Given the description of an element on the screen output the (x, y) to click on. 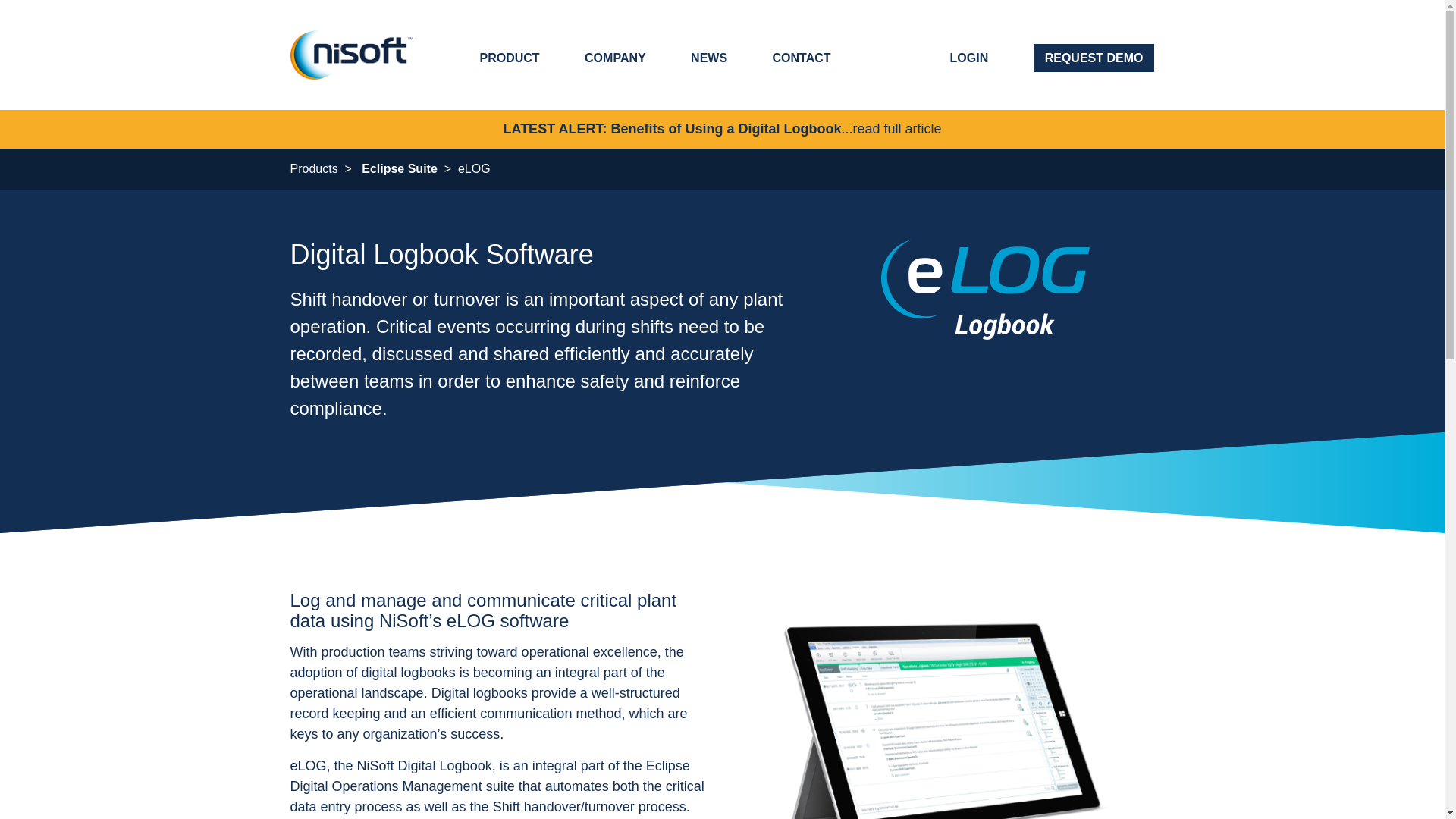
PRODUCT (508, 57)
NEWS (708, 57)
REQUEST DEMO (1093, 58)
Eclipse Suite (399, 168)
Go to Eclipse Suite. (399, 168)
LOGIN (969, 57)
CONTACT (802, 57)
COMPANY (615, 57)
